Given the description of an element on the screen output the (x, y) to click on. 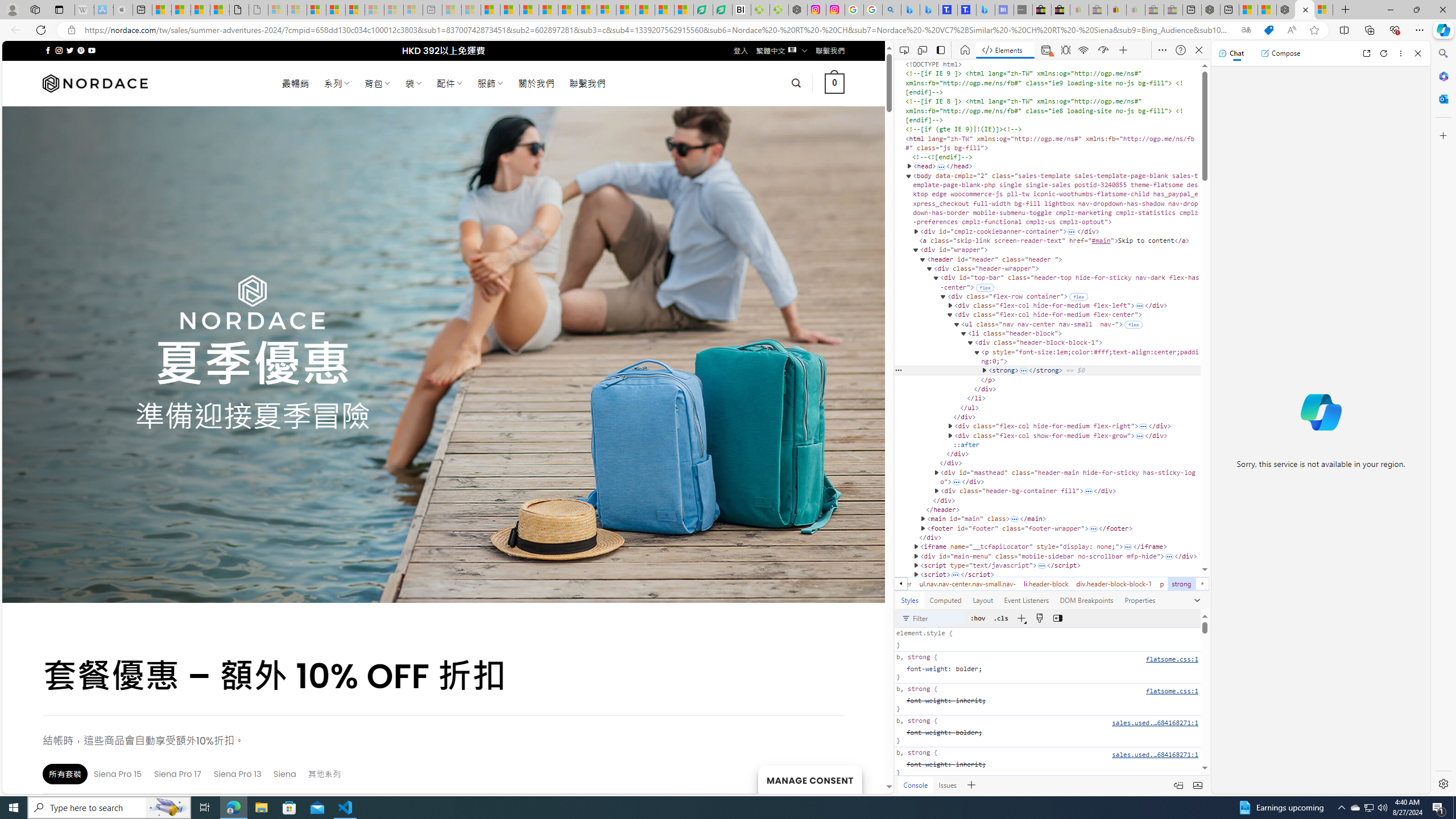
Expand (954, 575)
Nordace - Summer Adventures 2024 (1304, 9)
More tabs (1197, 599)
Siena Pro 17 (178, 773)
Nvidia va a poner a prueba la paciencia de los inversores (741, 9)
Minimize (1390, 9)
Aberdeen, Hong Kong SAR severe weather | Microsoft Weather (219, 9)
Close tab (1305, 9)
Customize and control DevTools (1162, 49)
Filter (937, 617)
element.style, css selector (1047, 639)
